Given the description of an element on the screen output the (x, y) to click on. 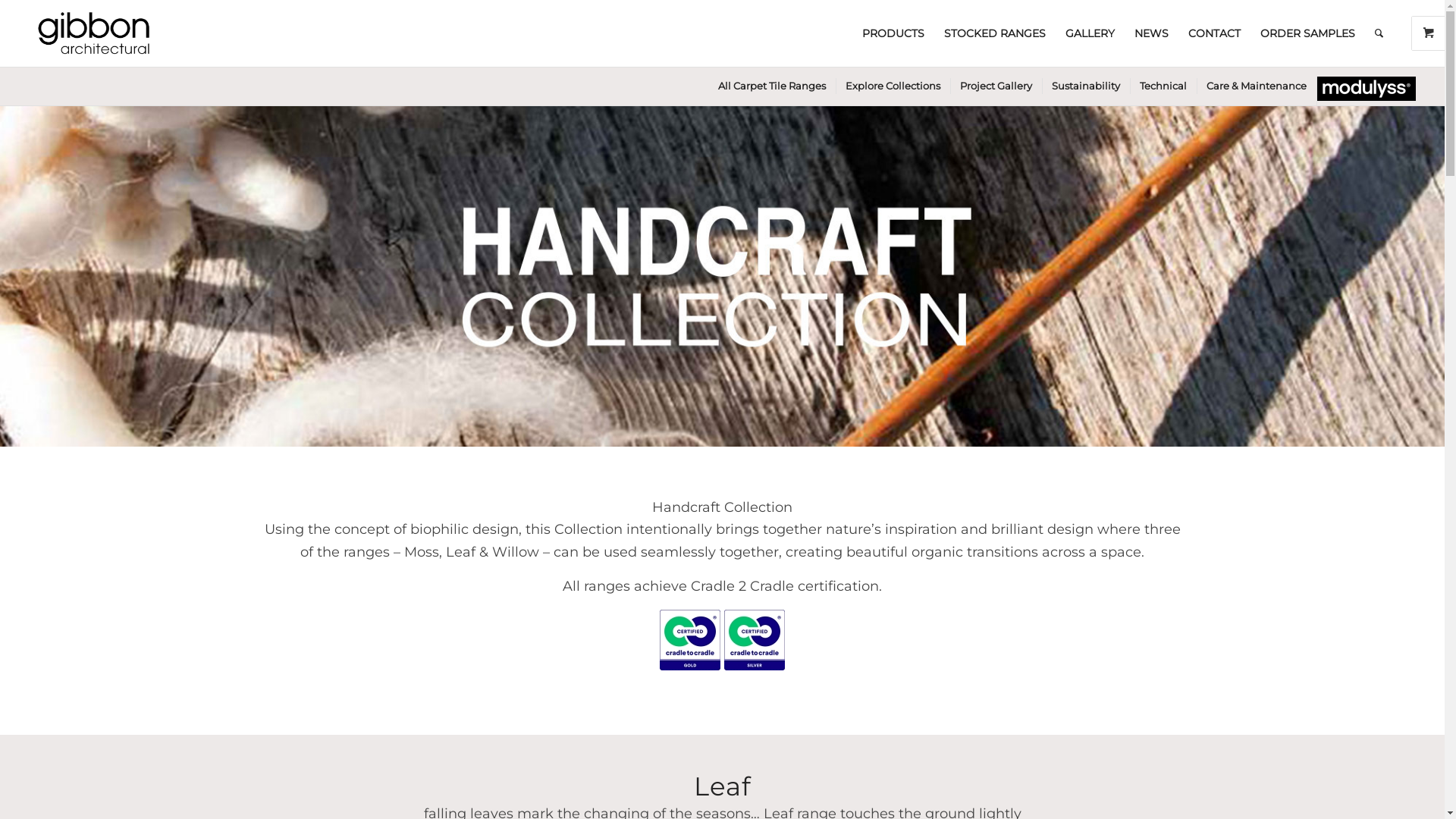
ORDER SAMPLES Element type: text (1307, 33)
GALLERY Element type: text (1089, 33)
Sustainability Element type: text (1084, 86)
All Carpet Tile Ranges Element type: text (771, 86)
Care & Maintenance Element type: text (1255, 86)
Project Gallery Element type: text (994, 86)
CONTACT Element type: text (1214, 33)
STOCKED RANGES Element type: text (994, 33)
NEWS Element type: text (1151, 33)
PRODUCTS Element type: text (893, 33)
Technical Element type: text (1161, 86)
Gibbon-Logo-Low-Res Element type: hover (93, 33)
Explore Collections Element type: text (891, 86)
